Given the description of an element on the screen output the (x, y) to click on. 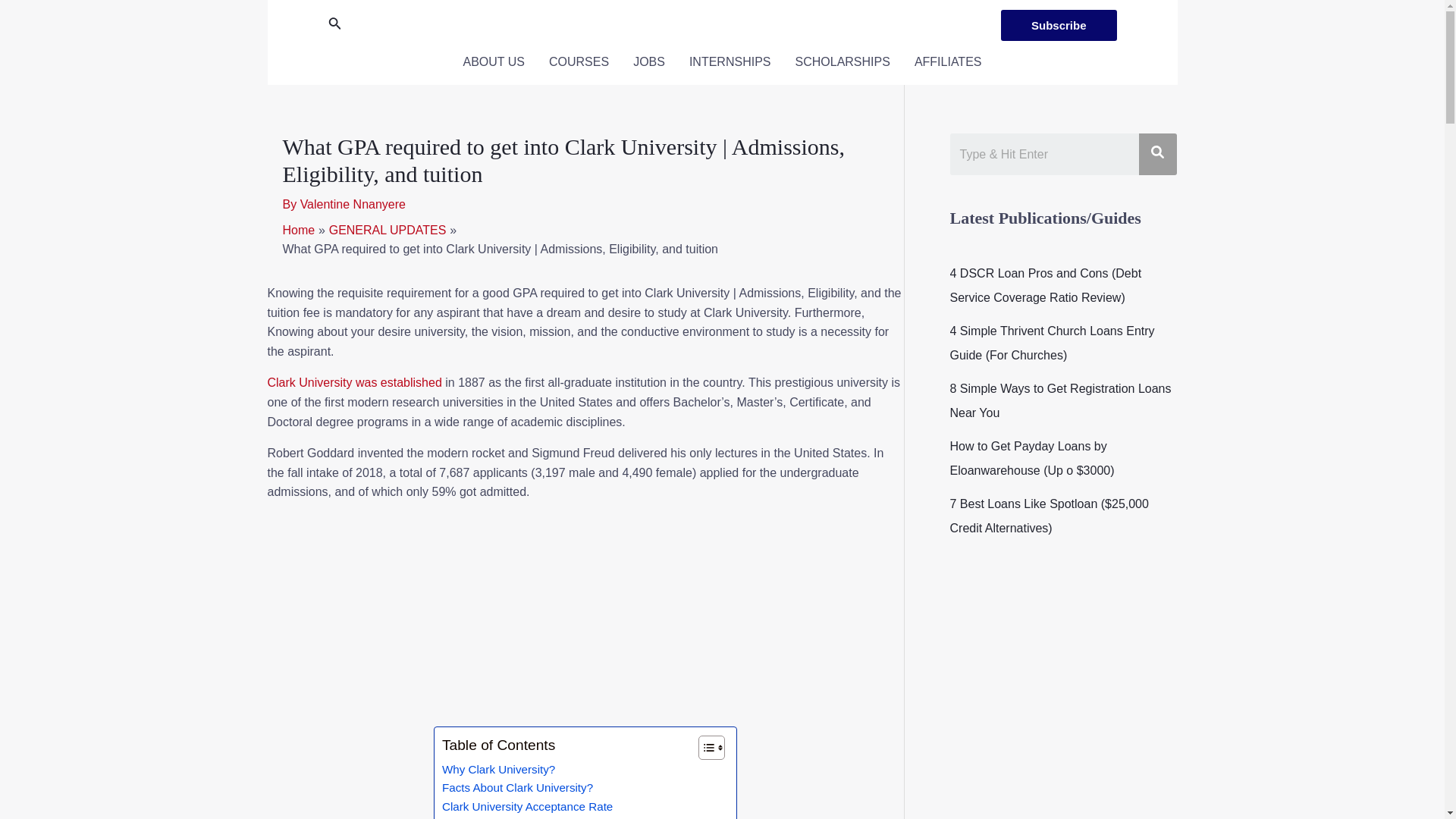
Facts About Clark University? (517, 787)
COURSES (579, 61)
Why Clark University? (498, 769)
SCHOLARSHIPS (842, 61)
GPA required to get into Clark University  (546, 817)
AFFILIATES (948, 61)
View all posts by Valentine Nnanyere (352, 204)
Clark University was established (355, 382)
ABOUT US (493, 61)
